Given the description of an element on the screen output the (x, y) to click on. 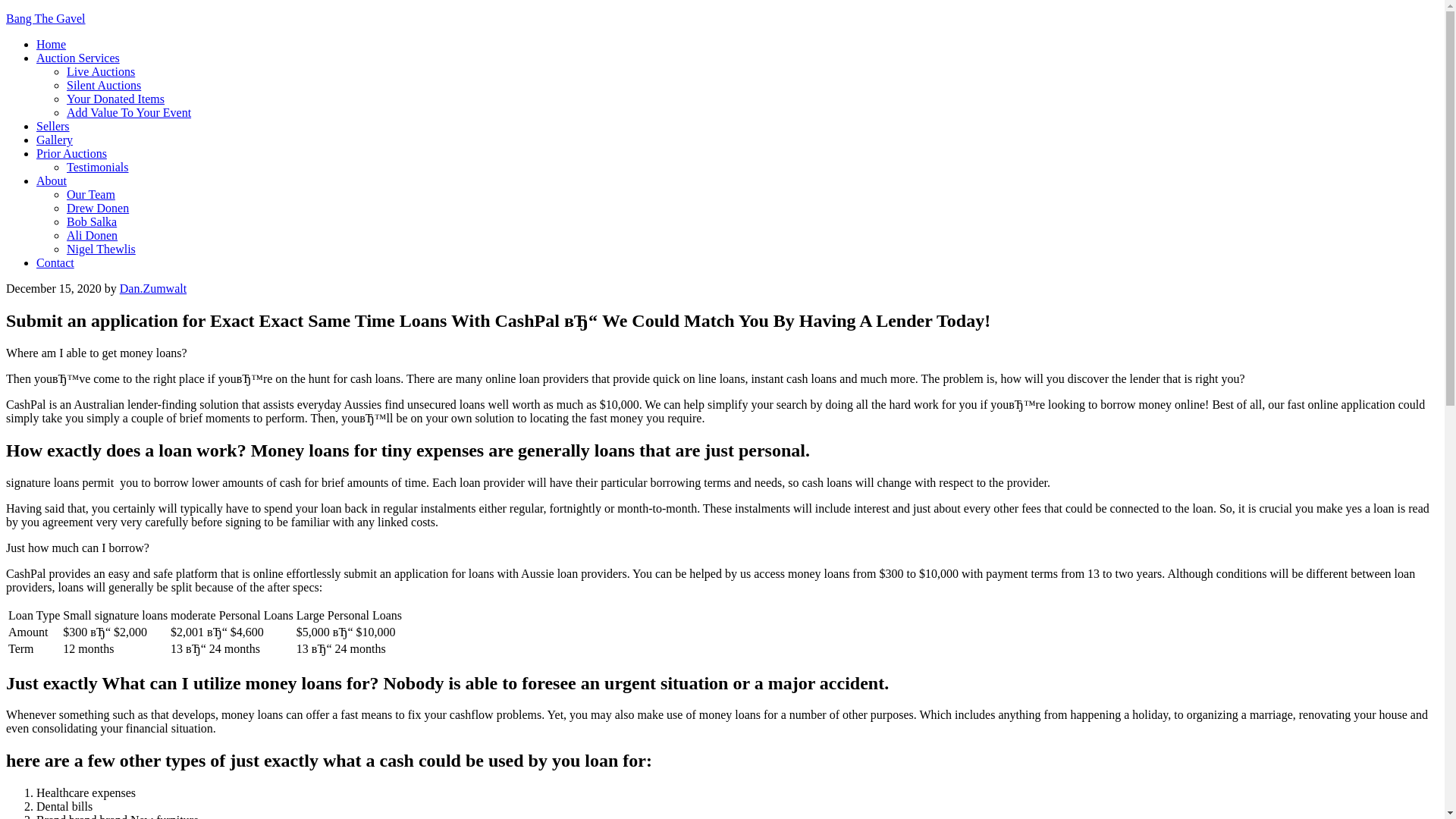
Sellers (52, 125)
Silent Auctions (103, 84)
Ali Donen (91, 235)
Contact (55, 262)
Gallery (54, 139)
About (51, 180)
Auction Services (77, 57)
Add Value To Your Event (128, 112)
Testimonials (97, 166)
Your Donated Items (115, 98)
Drew Donen (97, 207)
Home (50, 43)
Dan.Zumwalt (152, 287)
Live Auctions (100, 71)
Nigel Thewlis (100, 248)
